Given the description of an element on the screen output the (x, y) to click on. 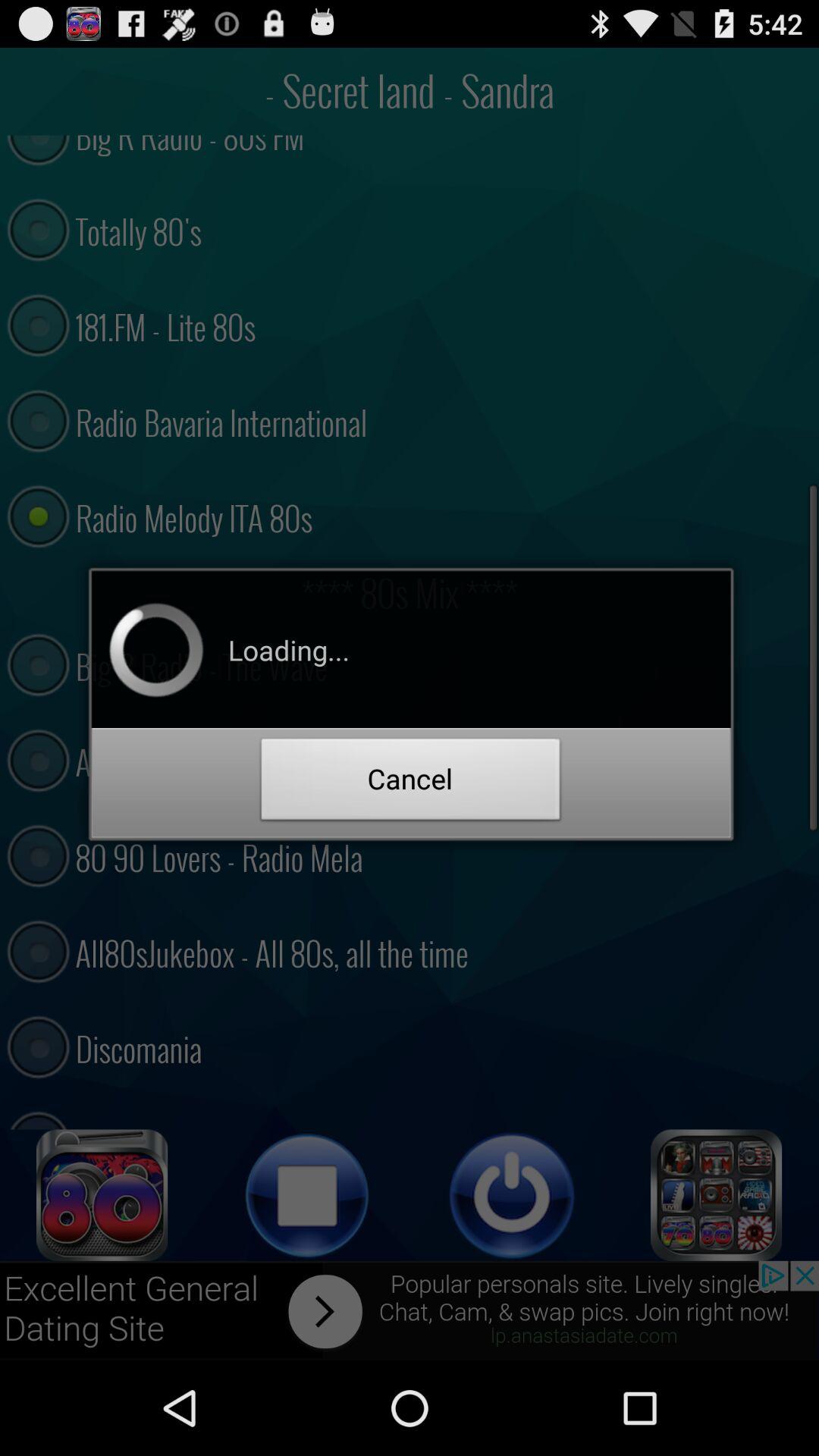
switch autoplay option (102, 1194)
